Given the description of an element on the screen output the (x, y) to click on. 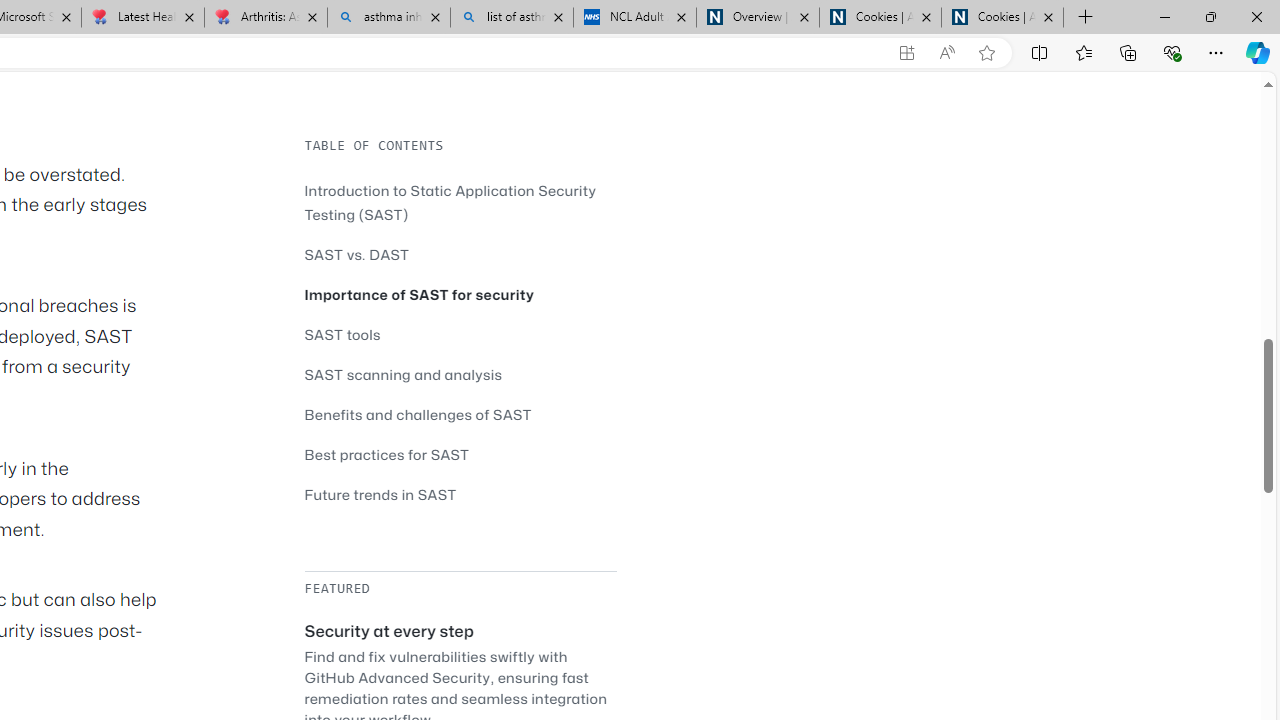
Benefits and challenges of SAST (418, 414)
SAST tools (460, 334)
Importance of SAST for security (460, 294)
Importance of SAST for security (419, 294)
Cookies | About | NICE (1002, 17)
